Given the description of an element on the screen output the (x, y) to click on. 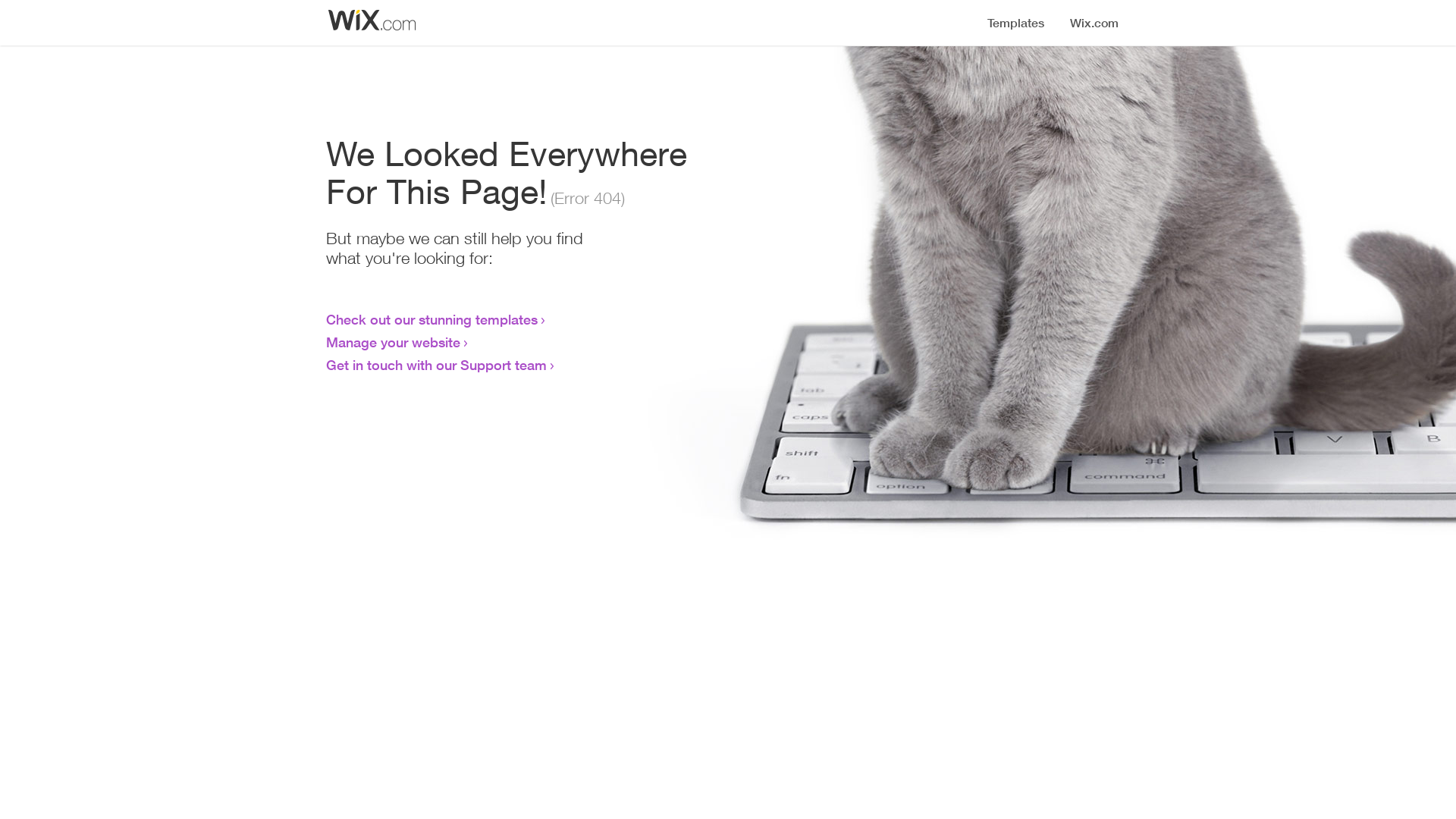
Get in touch with our Support team Element type: text (436, 364)
Check out our stunning templates Element type: text (431, 318)
Manage your website Element type: text (393, 341)
